Given the description of an element on the screen output the (x, y) to click on. 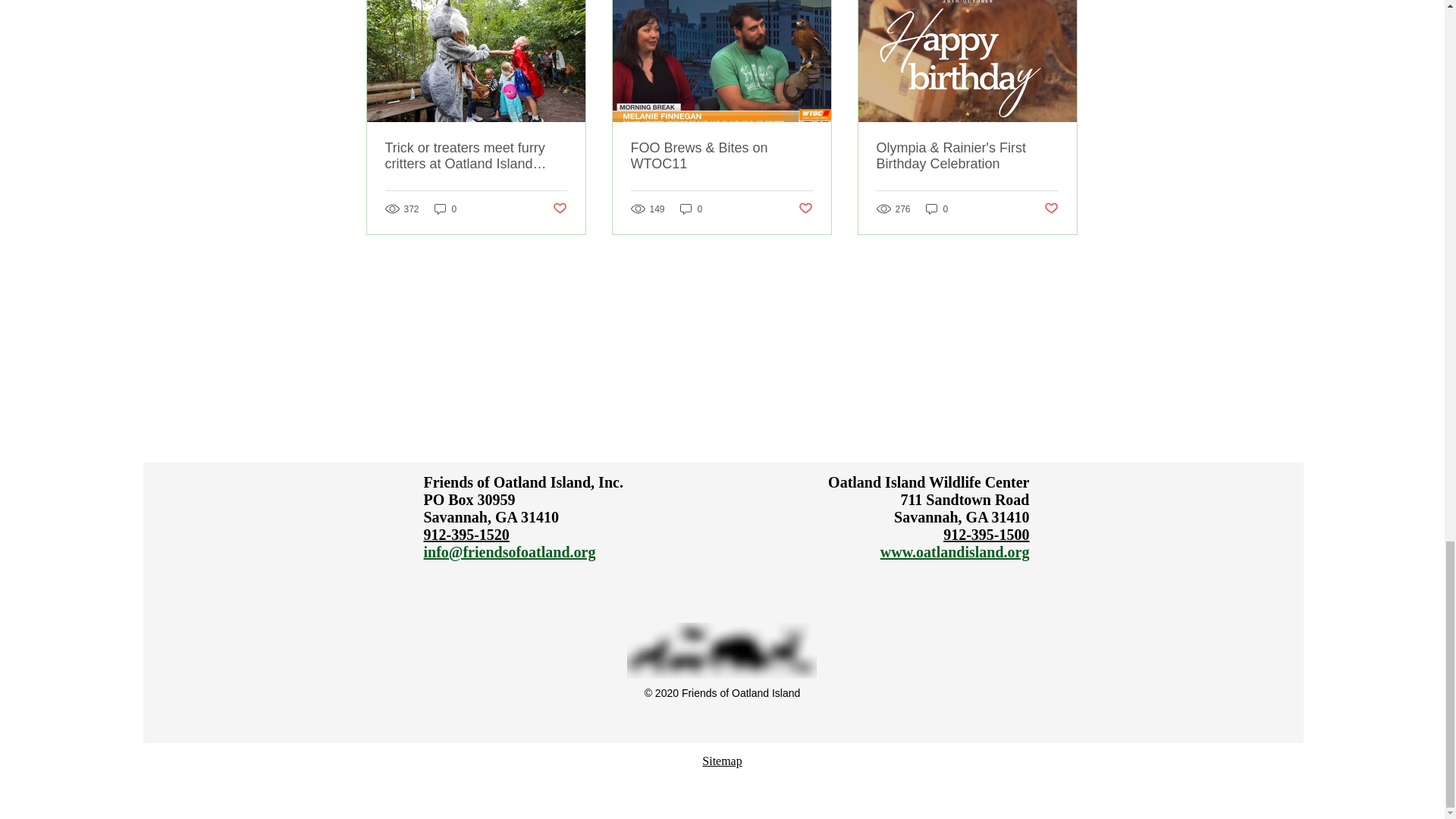
Post not marked as liked (558, 208)
0 (445, 208)
0 (691, 208)
